Given the description of an element on the screen output the (x, y) to click on. 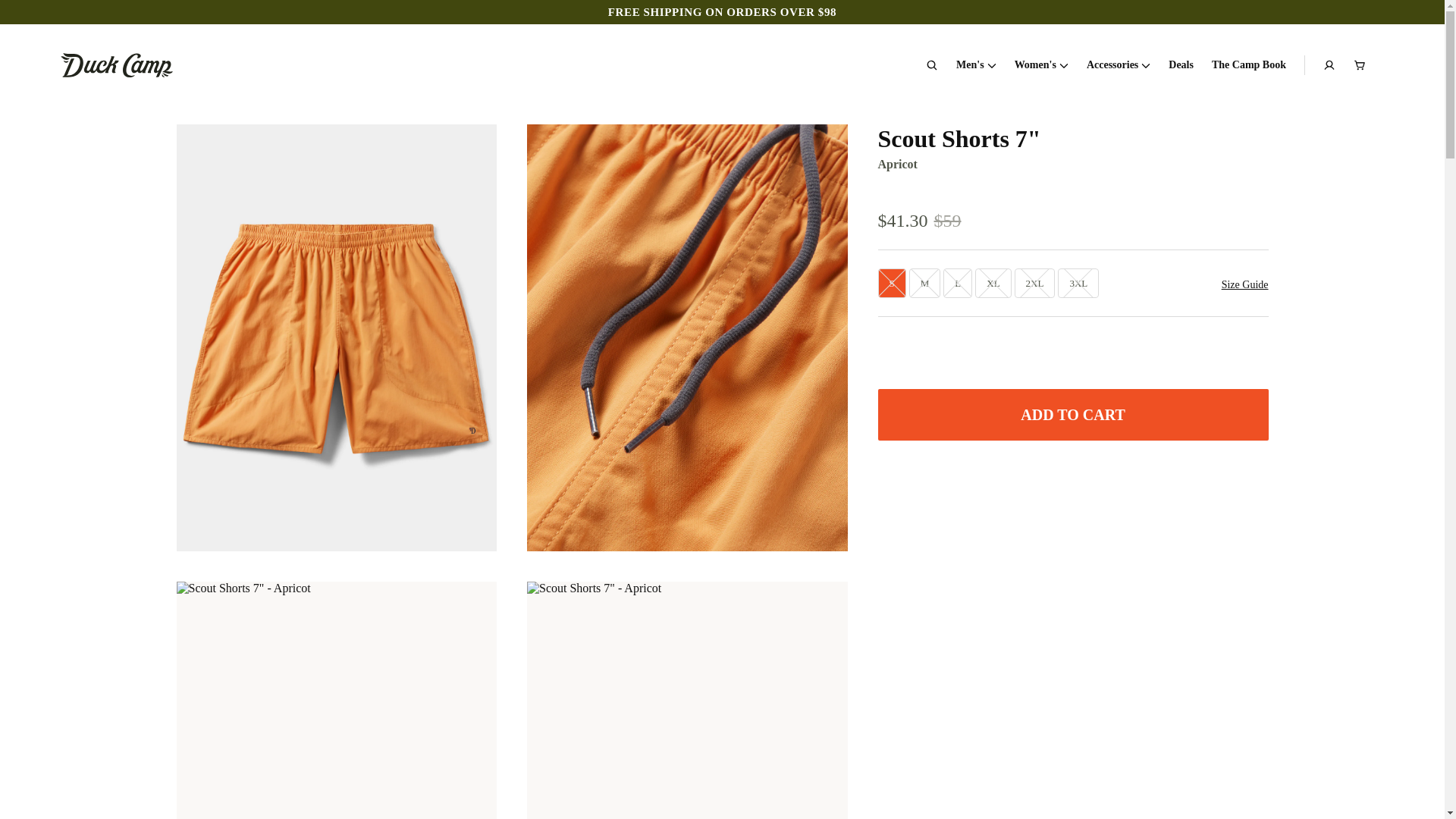
Women's (1041, 64)
Deals (1181, 64)
Men's (975, 64)
The Camp Book (1248, 64)
Accessories (1118, 64)
